Given the description of an element on the screen output the (x, y) to click on. 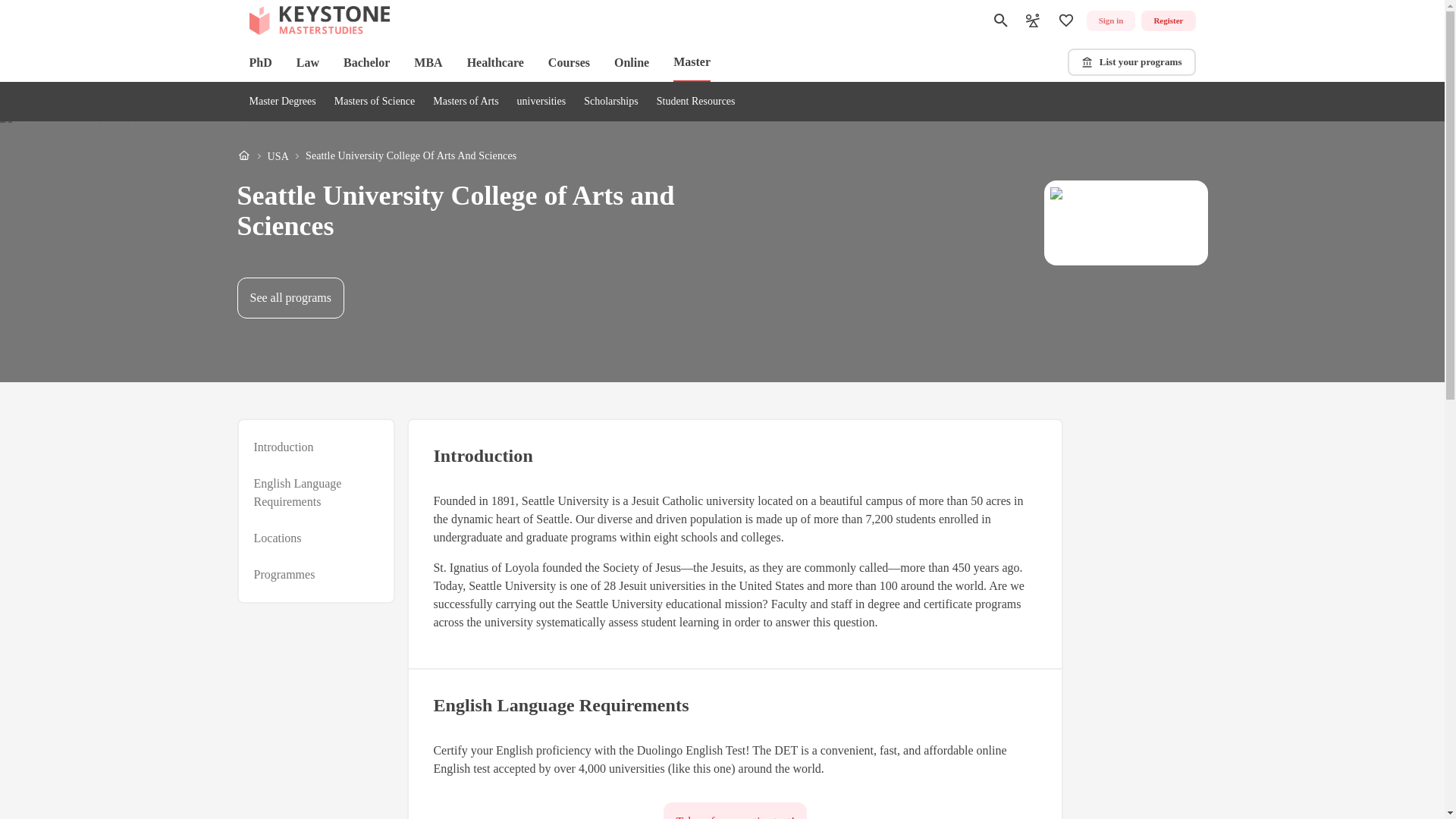
universities (541, 101)
Healthcare (495, 63)
Programmes (283, 574)
Locations (375, 156)
See all programs (277, 538)
Take a free practice test! (289, 297)
Master Degrees (734, 810)
Masters of Arts (281, 101)
